Given the description of an element on the screen output the (x, y) to click on. 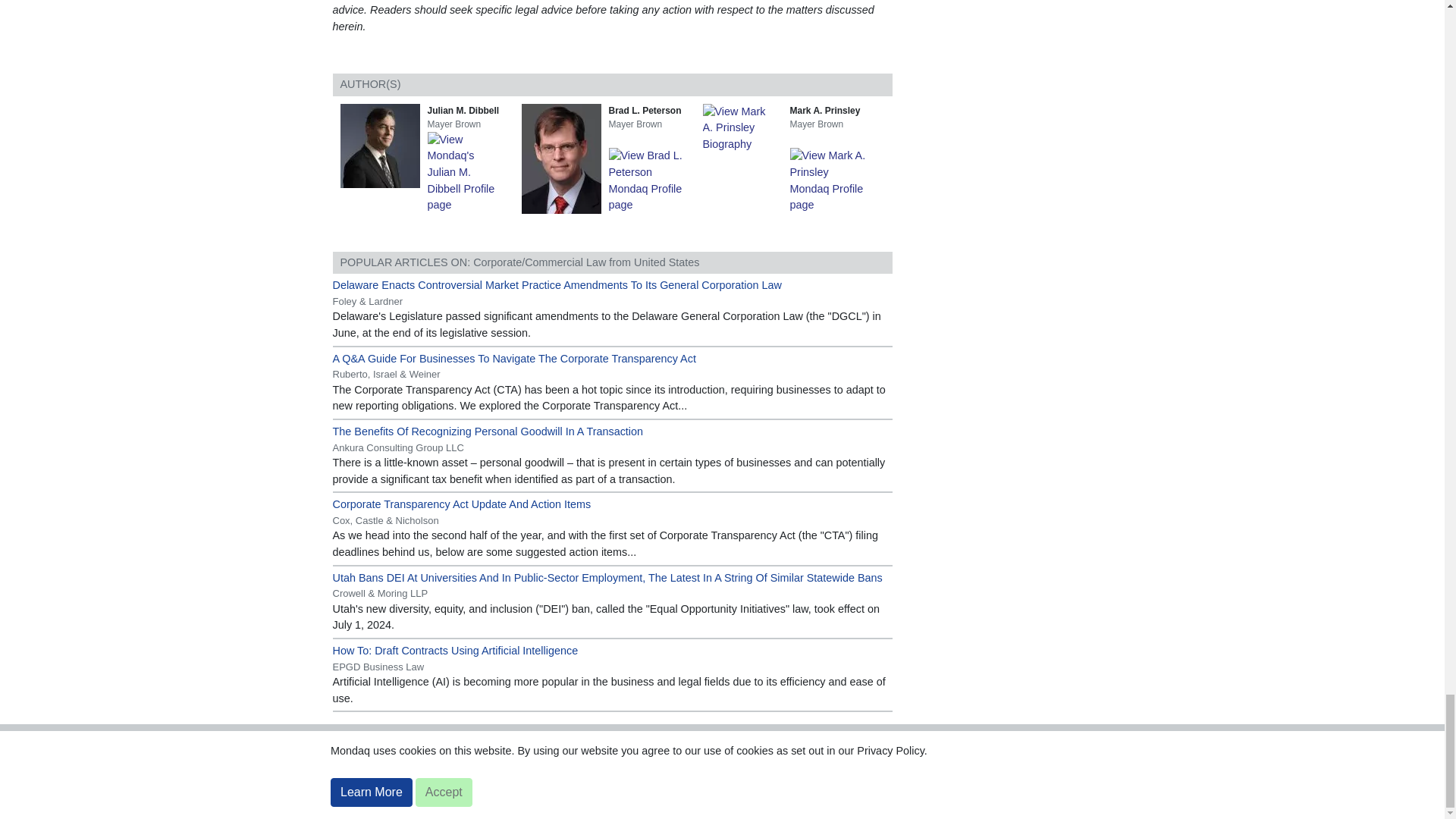
More from Julian M.  Dibbell (469, 172)
View this authors biography on their website (382, 144)
